Given the description of an element on the screen output the (x, y) to click on. 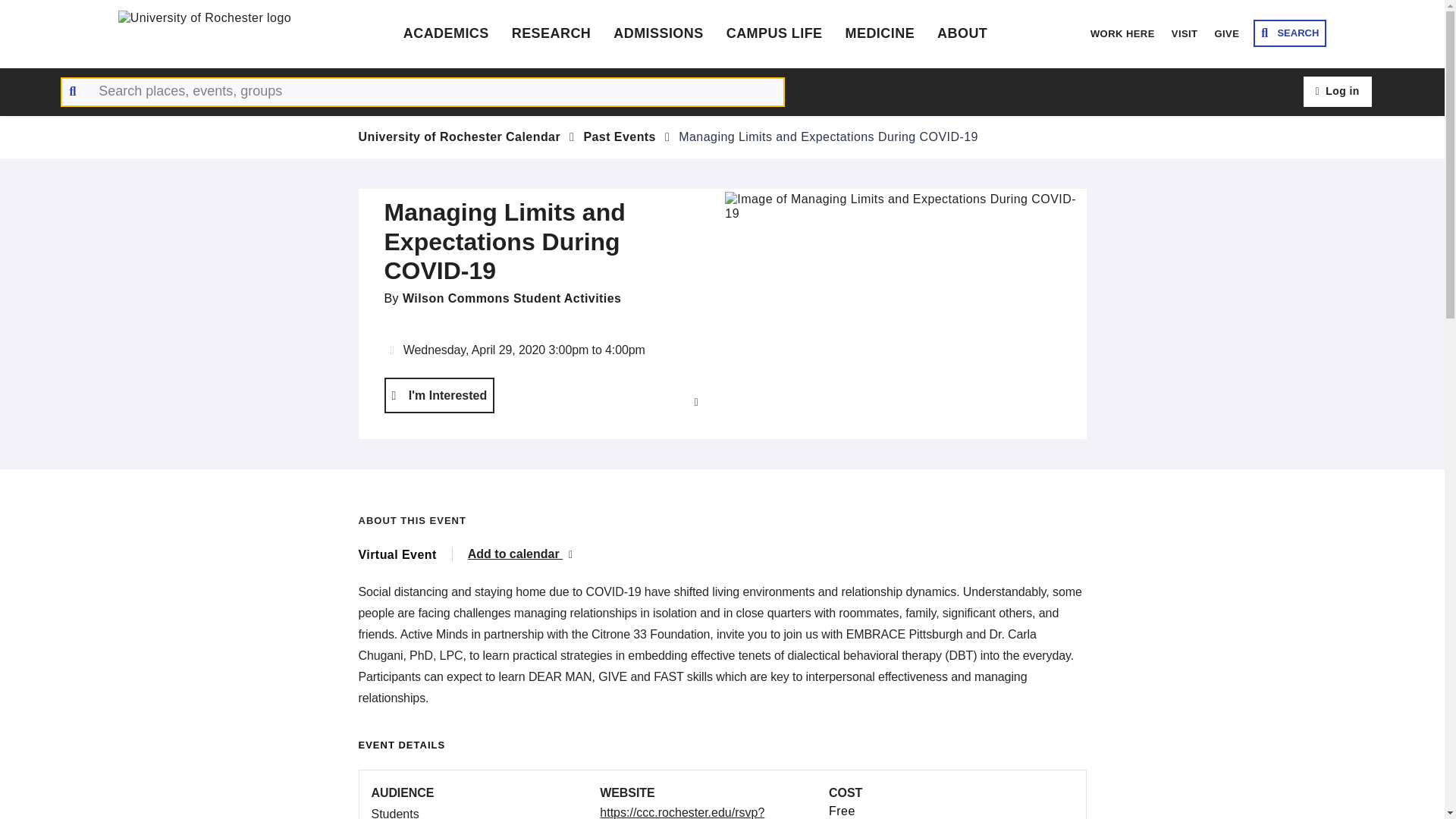
University of Rochester Calendar (459, 136)
SEARCH (1289, 32)
University of Rochester Homepage (231, 33)
Wilson Commons Student Activities (512, 297)
CAMPUS LIFE (774, 33)
WORK HERE (1122, 33)
GIVE (1226, 33)
ADMISSIONS (657, 33)
Log in (1337, 91)
Past Events (619, 136)
